Given the description of an element on the screen output the (x, y) to click on. 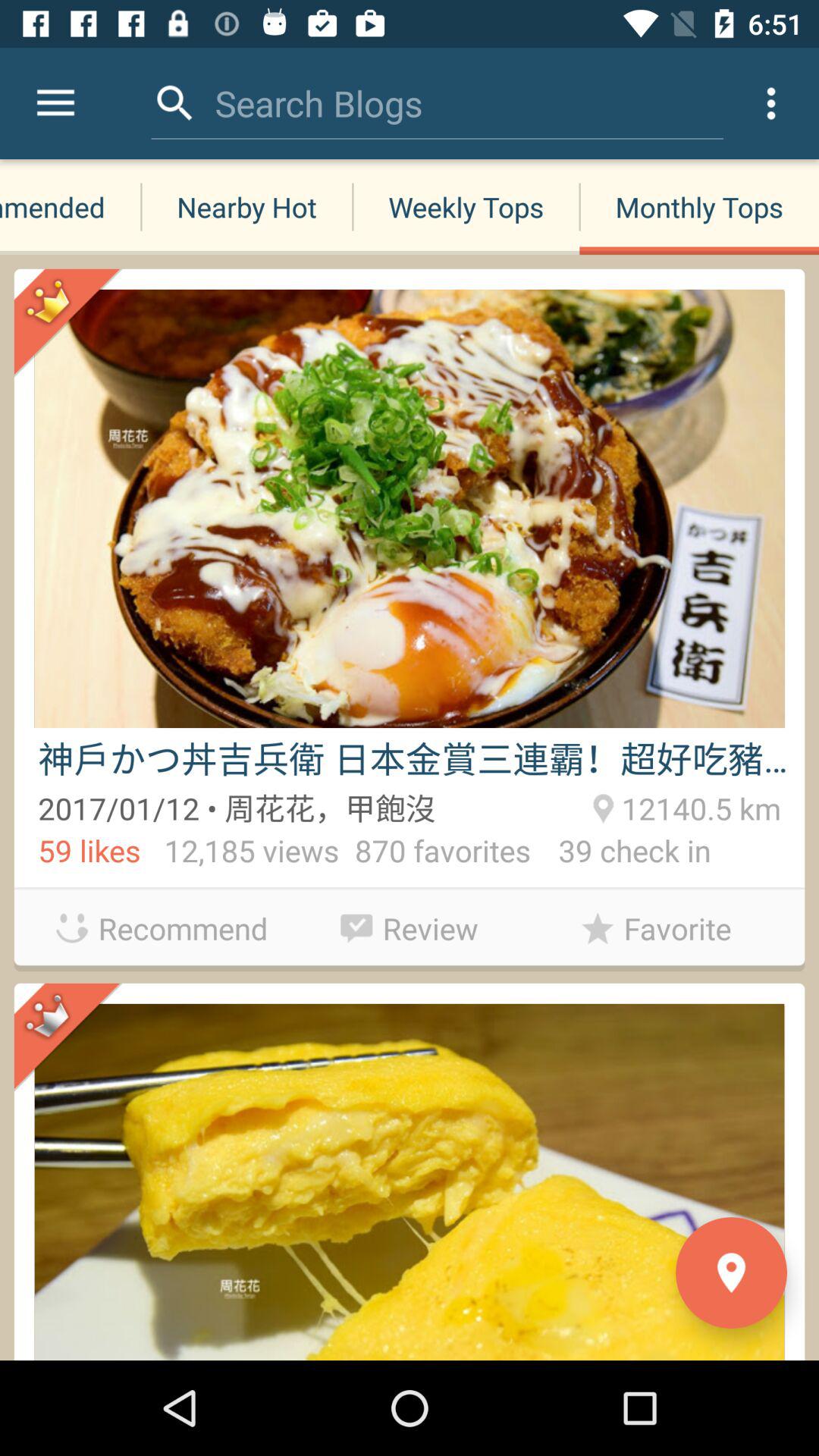
turn on the icon to the left of monthly tops item (318, 103)
